Given the description of an element on the screen output the (x, y) to click on. 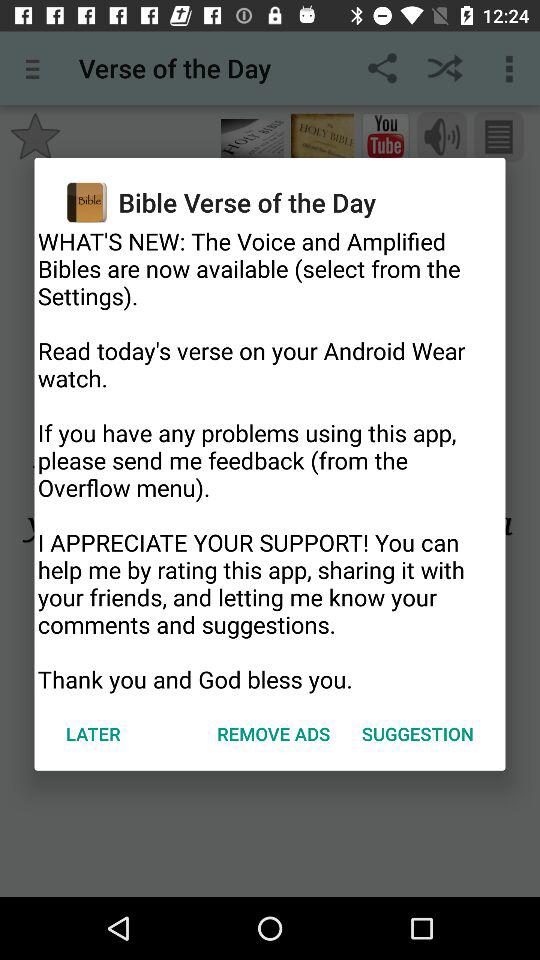
turn on the icon to the left of remove ads icon (93, 733)
